Given the description of an element on the screen output the (x, y) to click on. 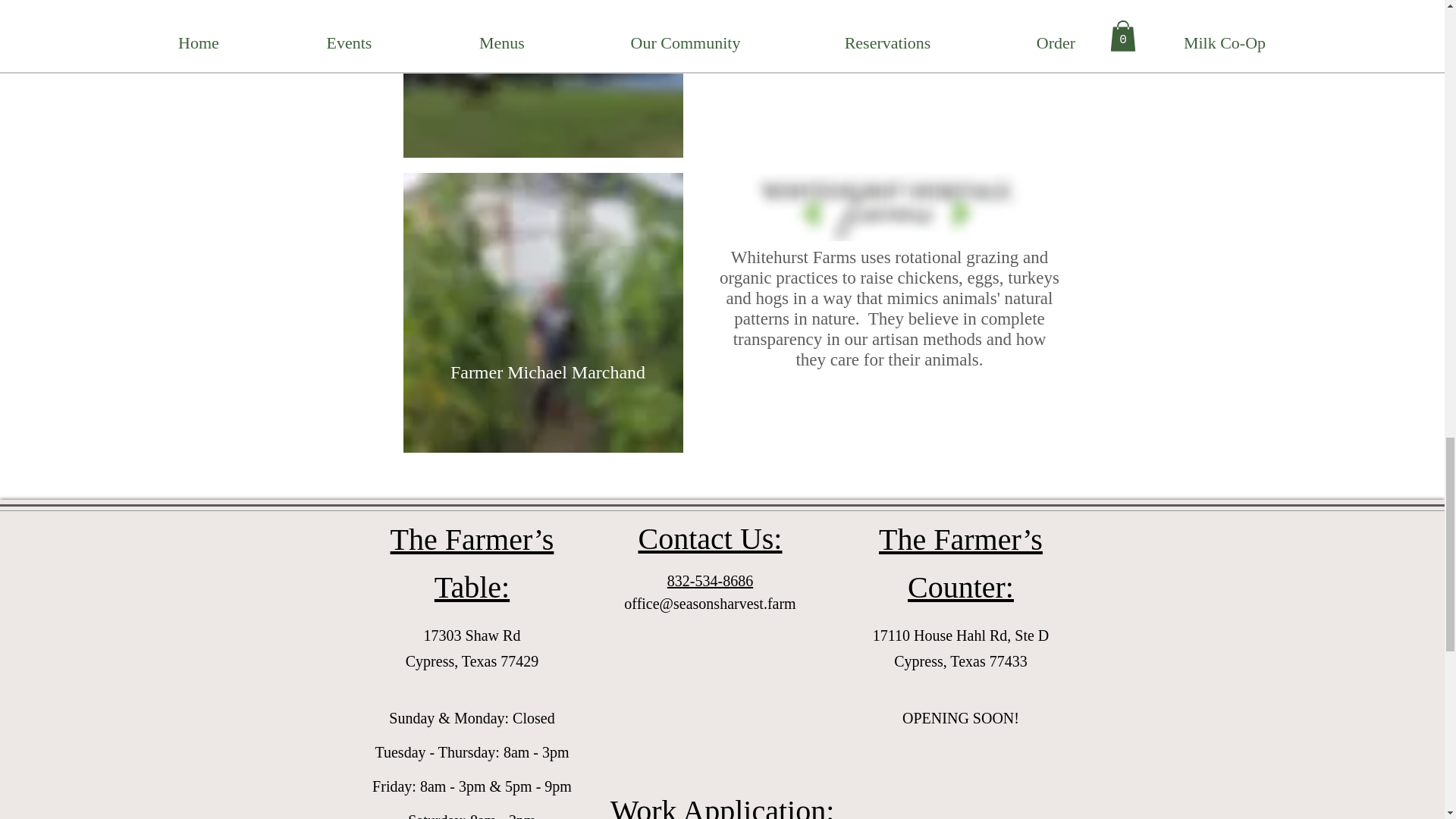
832-534-8686 (709, 580)
